Given the description of an element on the screen output the (x, y) to click on. 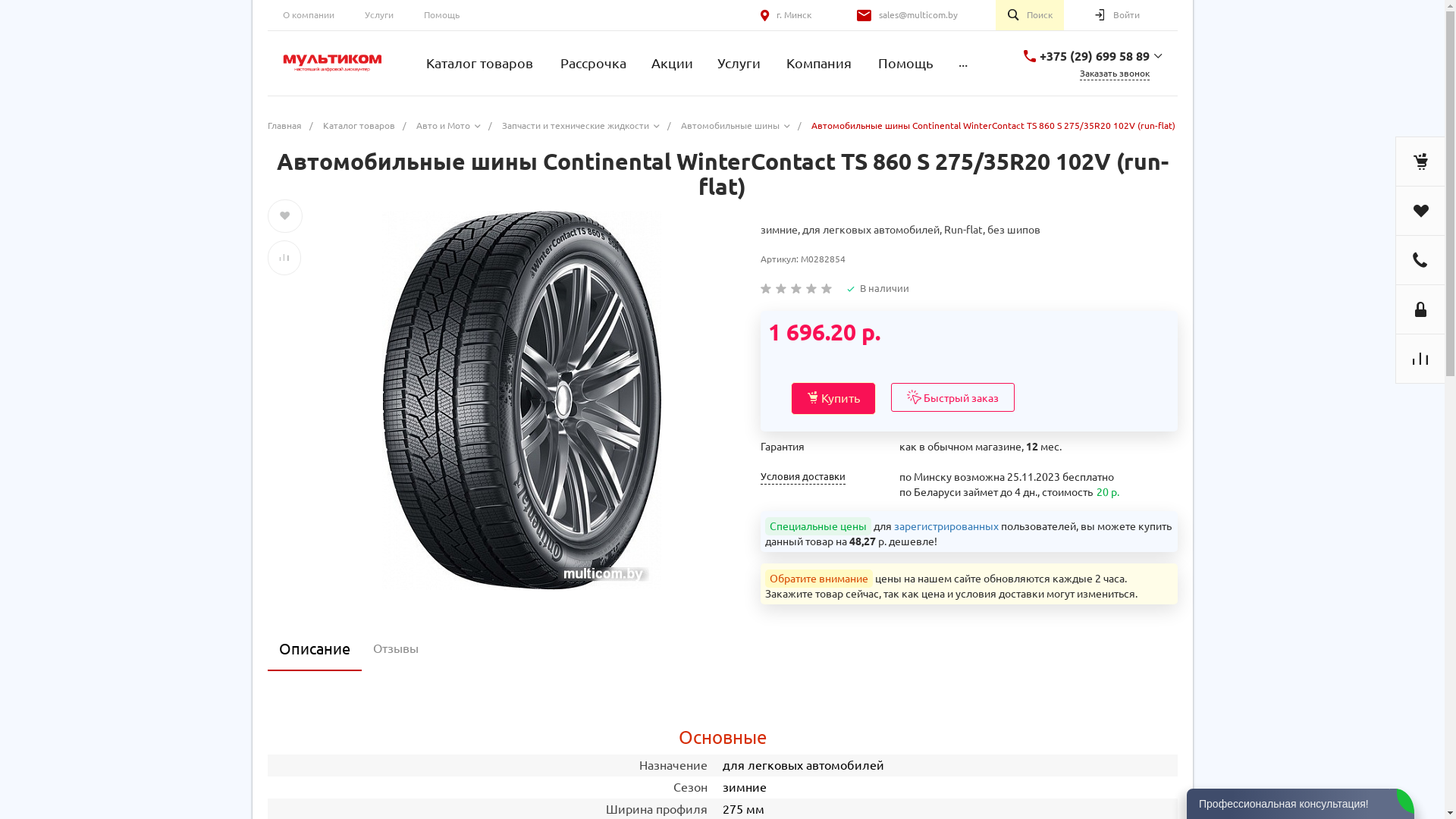
5 Element type: hover (826, 288)
+375 (29) 699 58 89 Element type: text (1093, 55)
1 Element type: hover (765, 288)
3 Element type: hover (795, 288)
Multicom Logo Element type: hover (331, 62)
sales@multicom.by Element type: text (917, 14)
2 Element type: hover (780, 288)
4 Element type: hover (811, 288)
... Element type: text (962, 63)
